Given the description of an element on the screen output the (x, y) to click on. 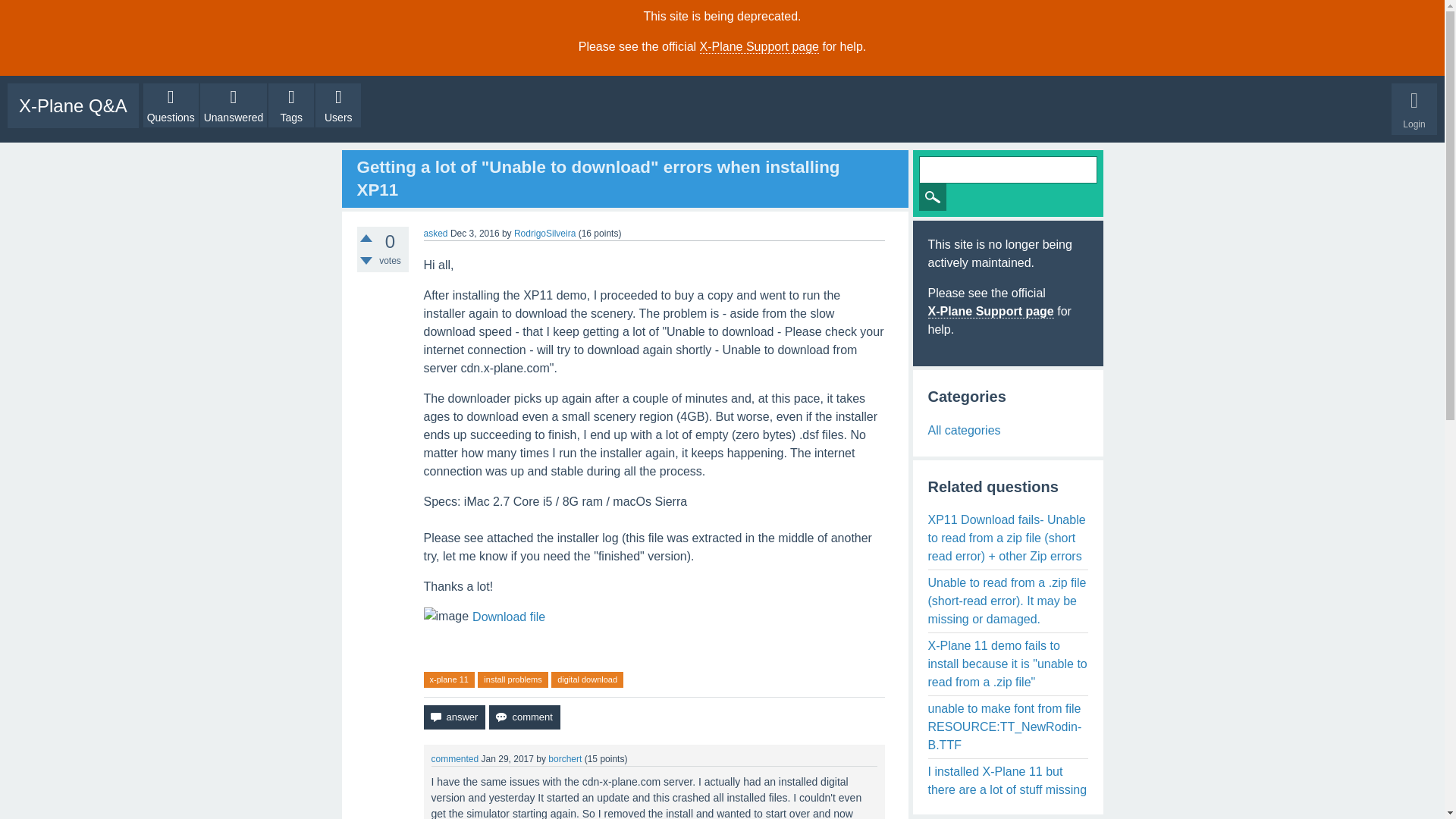
asked (434, 233)
Questions (170, 105)
borchert (564, 758)
Click to vote up (365, 237)
digital download (587, 679)
RodrigoSilveira (544, 233)
Unanswered (233, 105)
comment (524, 717)
Click to vote down (365, 260)
answer (453, 717)
commented (454, 758)
install problems (512, 679)
comment (524, 717)
Search (932, 196)
